Given the description of an element on the screen output the (x, y) to click on. 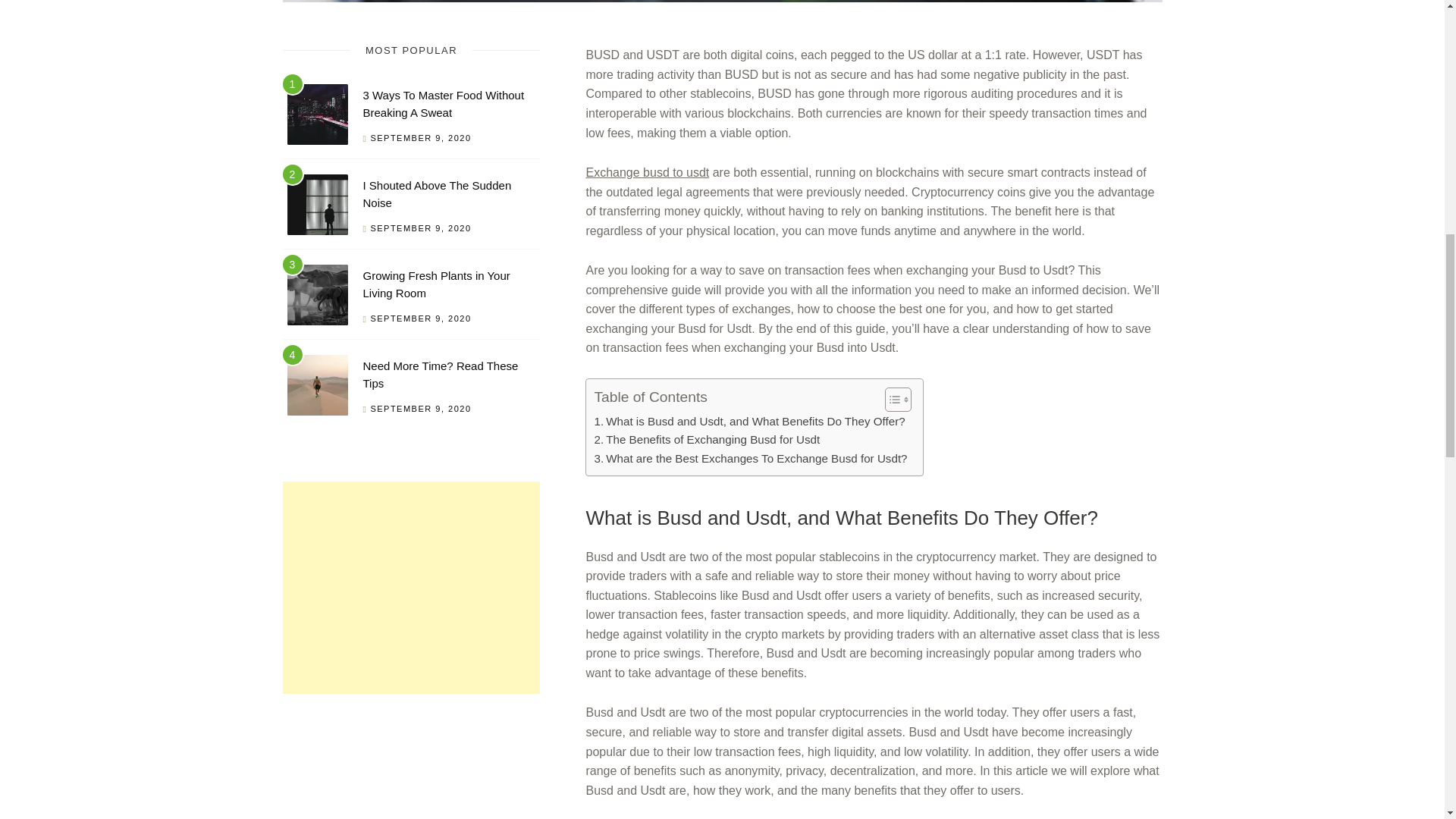
SEPTEMBER 9, 2020 (419, 317)
Permalink to 3 Ways To Master Food Without Breaking A Sweat (316, 116)
Permalink to Need More Time? Read These Tips (440, 374)
Growing Fresh Plants in Your Living Room (435, 284)
Advertisement (411, 587)
Permalink to Growing Fresh Plants in Your Living Room (316, 297)
What are the Best Exchanges To Exchange Busd for Usdt? (750, 458)
3 Ways To Master Food Without Breaking A Sweat (443, 103)
Permalink to 3 Ways To Master Food Without Breaking A Sweat (443, 103)
SEPTEMBER 9, 2020 (419, 227)
